Given the description of an element on the screen output the (x, y) to click on. 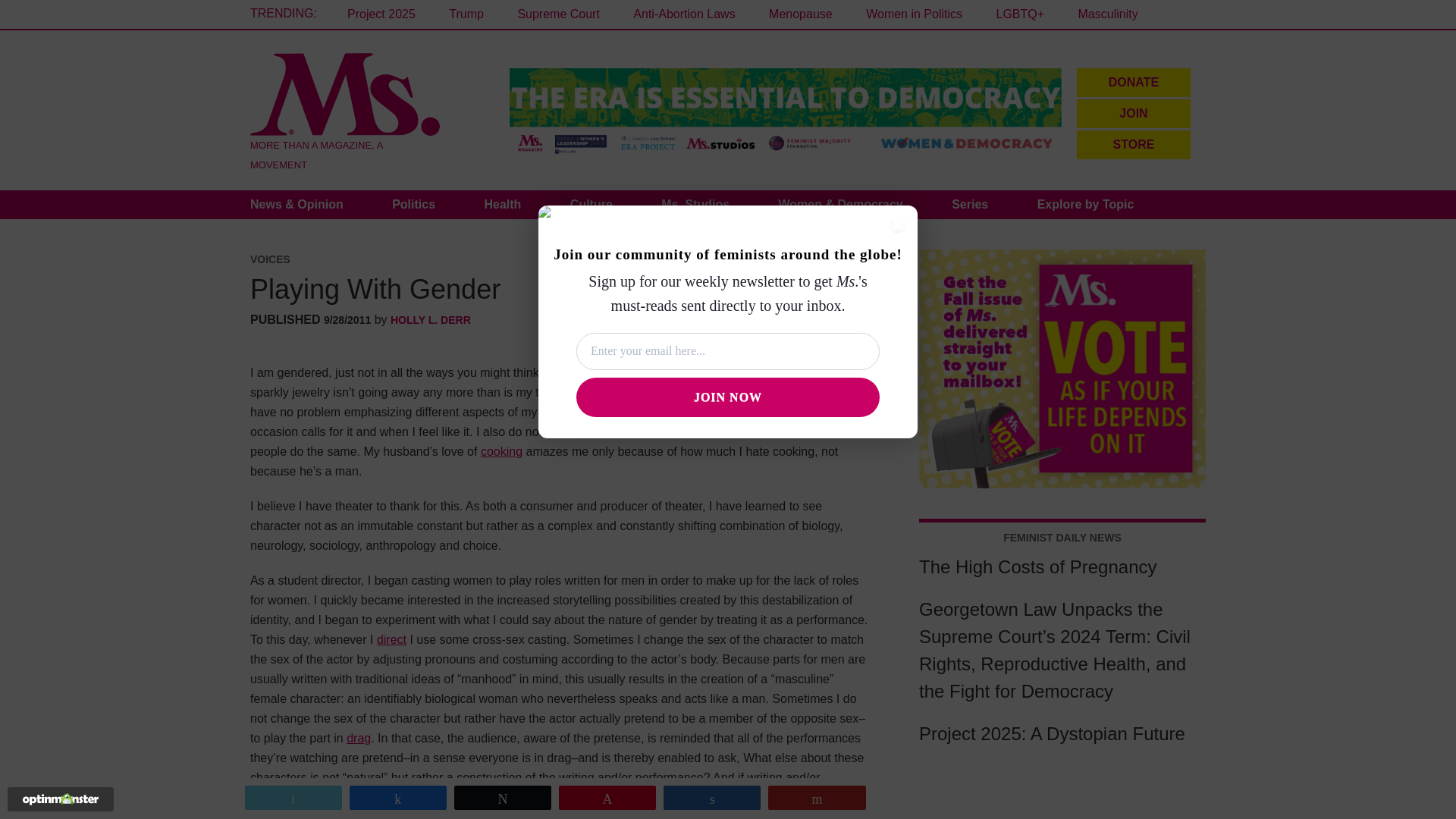
Anti-Abortion Laws (684, 13)
Ms. Studios (695, 204)
Close (897, 225)
JOIN NOW (727, 396)
Politics (413, 204)
Explore by Topic (1085, 204)
Health (502, 204)
VOICES (269, 259)
Series (969, 204)
cooking (501, 451)
Posts by Holly L. Derr (430, 319)
Powered by OptinMonster (61, 799)
DONATE (1134, 82)
Masculinity (1108, 13)
HOLLY L. DERR (430, 319)
